Given the description of an element on the screen output the (x, y) to click on. 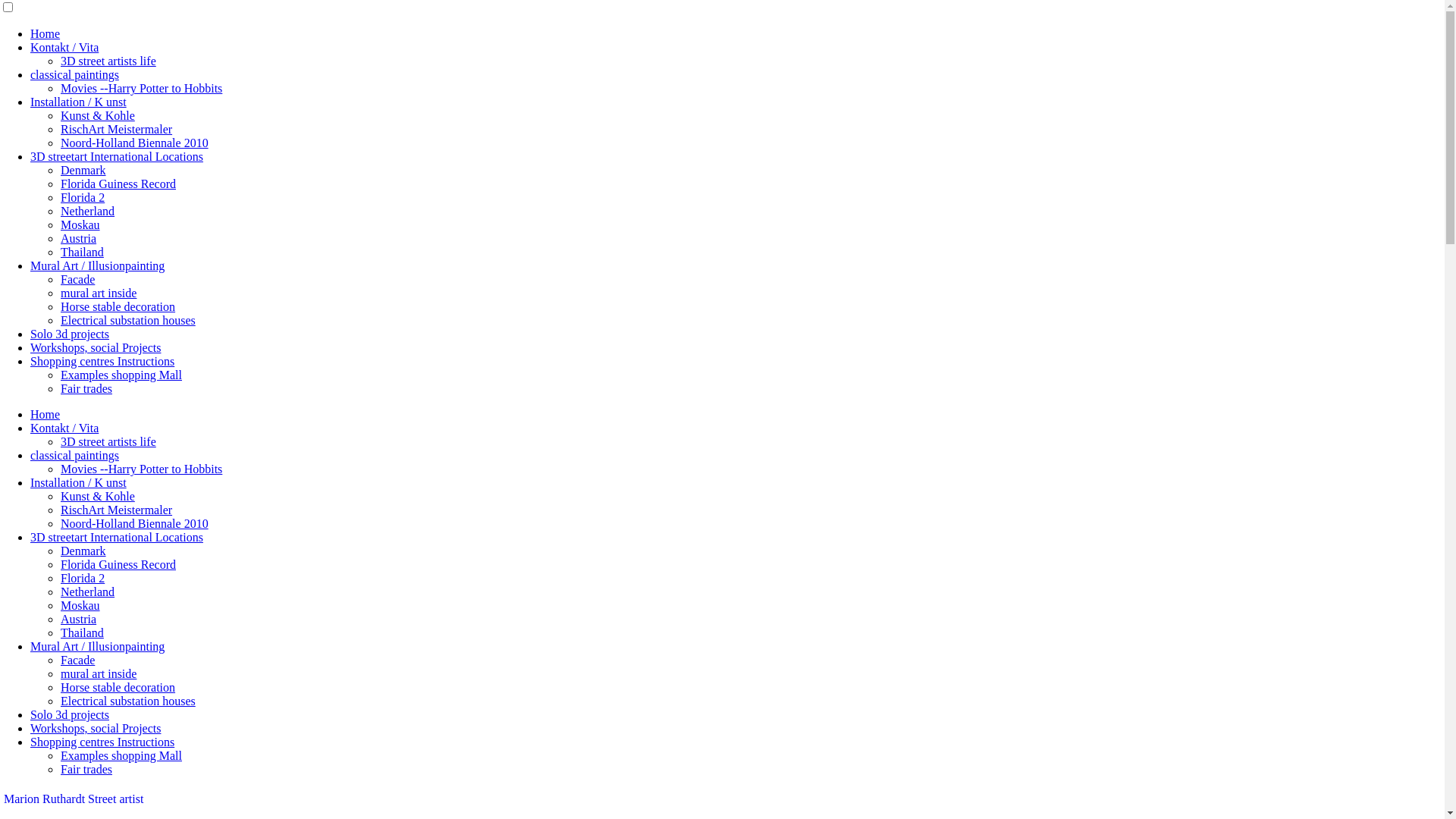
Horse stable decoration Element type: text (117, 306)
Home Element type: text (44, 413)
Electrical substation houses Element type: text (127, 700)
Netherland Element type: text (87, 591)
Examples shopping Mall Element type: text (121, 755)
mural art inside Element type: text (98, 673)
Kunst & Kohle Element type: text (97, 495)
Examples shopping Mall Element type: text (121, 374)
Horse stable decoration Element type: text (117, 686)
mural art inside Element type: text (98, 292)
Shopping centres Instructions Element type: text (102, 741)
3D street artists life Element type: text (108, 441)
RischArt Meistermaler Element type: text (116, 128)
Workshops, social Projects Element type: text (95, 727)
Florida Guiness Record Element type: text (117, 564)
Fair trades Element type: text (86, 768)
Denmark Element type: text (83, 550)
3D streetart International Locations Element type: text (116, 156)
Austria Element type: text (78, 618)
Florida 2 Element type: text (82, 577)
3D streetart International Locations Element type: text (116, 536)
Noord-Holland Biennale 2010 Element type: text (134, 523)
classical paintings Element type: text (74, 454)
Thailand Element type: text (81, 251)
Kontakt / Vita Element type: text (64, 46)
Solo 3d projects Element type: text (69, 333)
Facade Element type: text (77, 279)
Mural Art / Illusionpainting Element type: text (97, 646)
Noord-Holland Biennale 2010 Element type: text (134, 142)
Solo 3d projects Element type: text (69, 714)
Florida Guiness Record Element type: text (117, 183)
Kunst & Kohle Element type: text (97, 115)
Kontakt / Vita Element type: text (64, 427)
Fair trades Element type: text (86, 388)
Workshops, social Projects Element type: text (95, 347)
Denmark Element type: text (83, 169)
Home Element type: text (44, 33)
RischArt Meistermaler Element type: text (116, 509)
Electrical substation houses Element type: text (127, 319)
Mural Art / Illusionpainting Element type: text (97, 265)
Movies --Harry Potter to Hobbits Element type: text (141, 87)
Florida 2 Element type: text (82, 197)
Movies --Harry Potter to Hobbits Element type: text (141, 468)
Facade Element type: text (77, 659)
Shopping centres Instructions Element type: text (102, 360)
Installation / K unst Element type: text (78, 101)
classical paintings Element type: text (74, 74)
Moskau Element type: text (80, 605)
Netherland Element type: text (87, 210)
Austria Element type: text (78, 238)
Installation / K unst Element type: text (78, 482)
Moskau Element type: text (80, 224)
3D street artists life Element type: text (108, 60)
Thailand Element type: text (81, 632)
Marion Ruthardt Street artist Element type: text (73, 798)
